Given the description of an element on the screen output the (x, y) to click on. 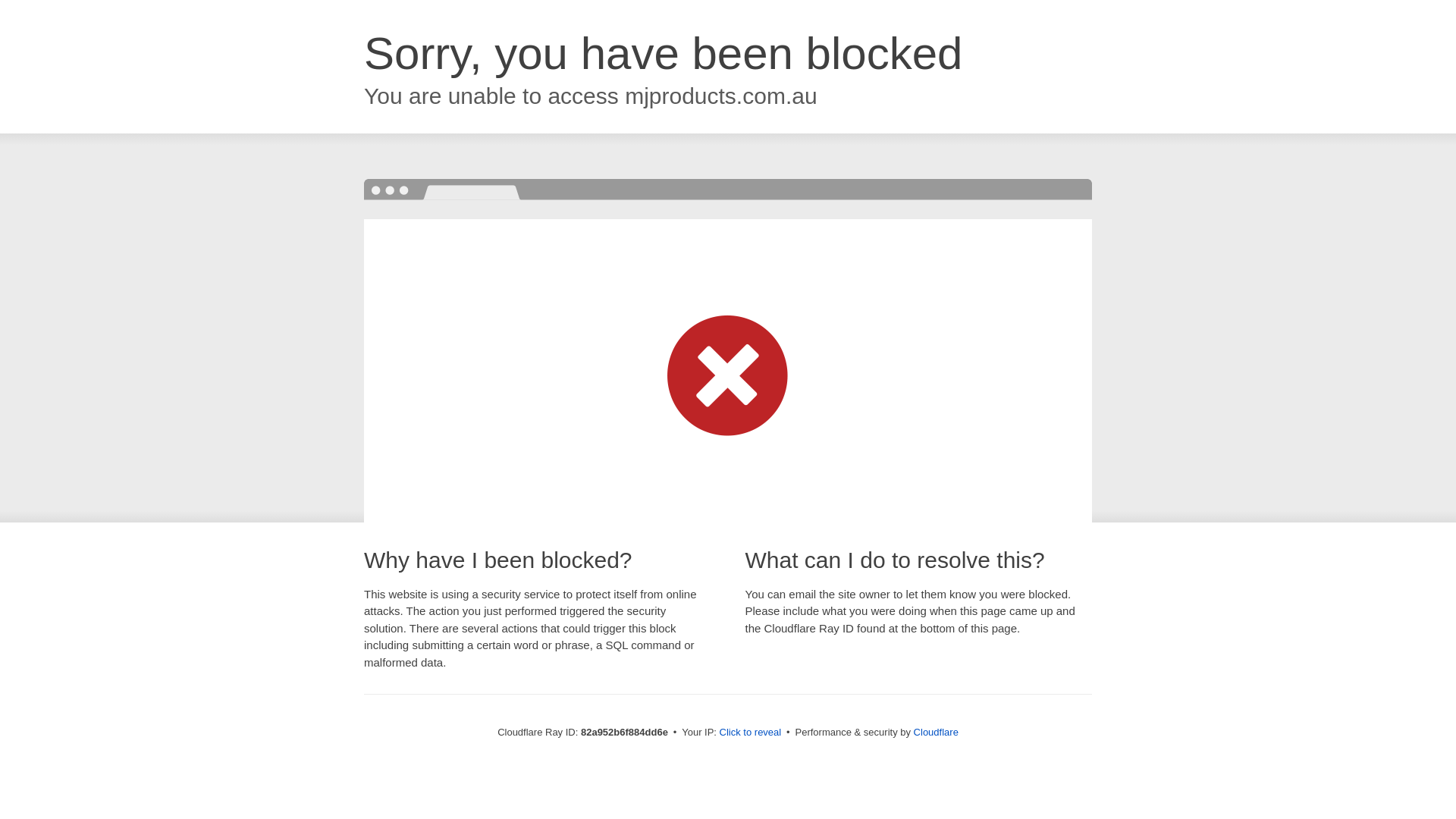
Click to reveal Element type: text (750, 732)
Cloudflare Element type: text (935, 731)
